Given the description of an element on the screen output the (x, y) to click on. 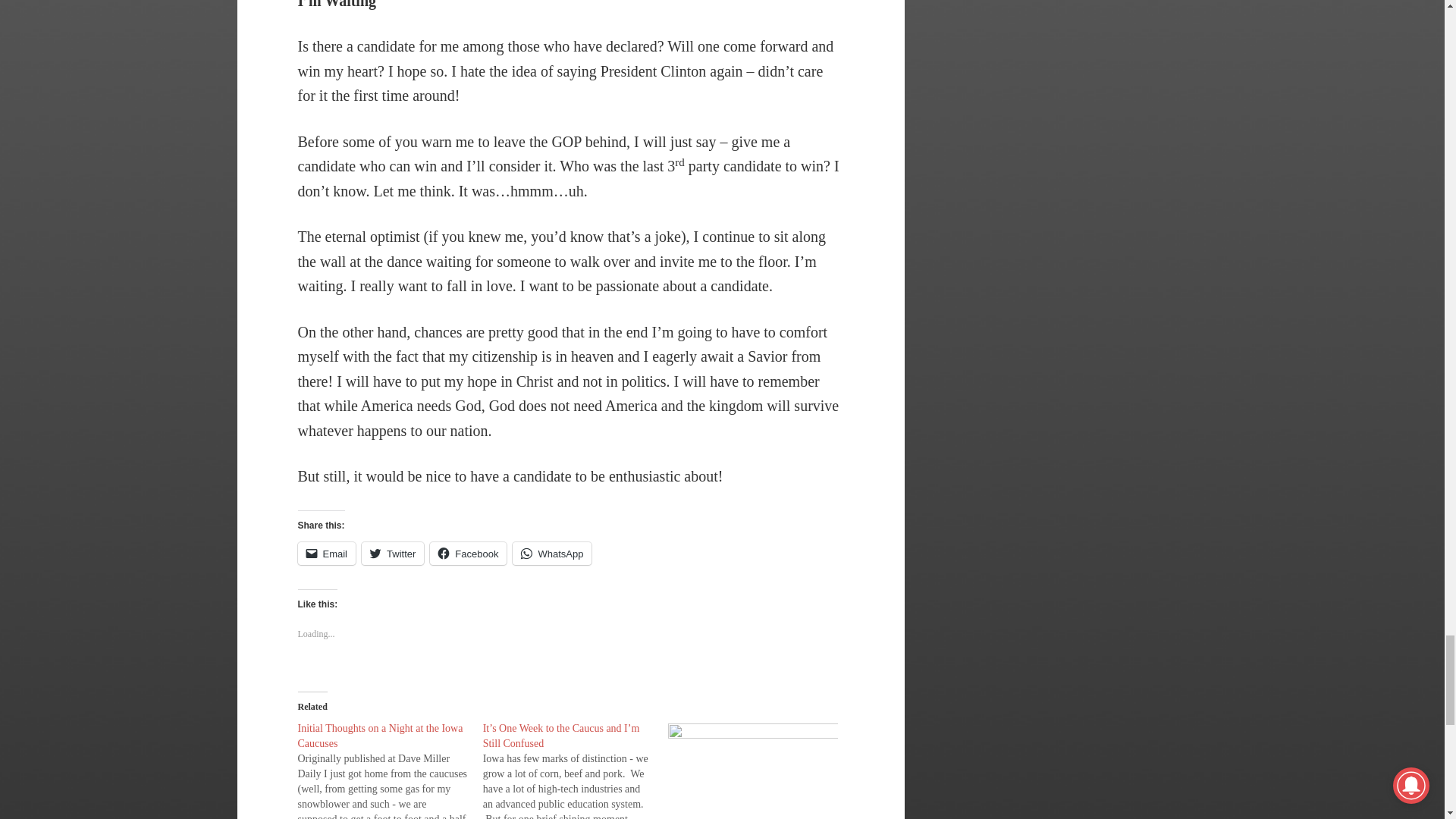
Email (326, 553)
Click to email a link to a friend (326, 553)
Click to share on Twitter (392, 553)
Initial Thoughts on a Night at the Iowa Caucuses (389, 770)
WhatsApp (551, 553)
Facebook (467, 553)
Twitter (392, 553)
Click to share on Facebook (467, 553)
Initial Thoughts on a Night at the Iowa Caucuses (380, 735)
Click to share on WhatsApp (551, 553)
Initial Thoughts on a Night at the Iowa Caucuses (380, 735)
